Given the description of an element on the screen output the (x, y) to click on. 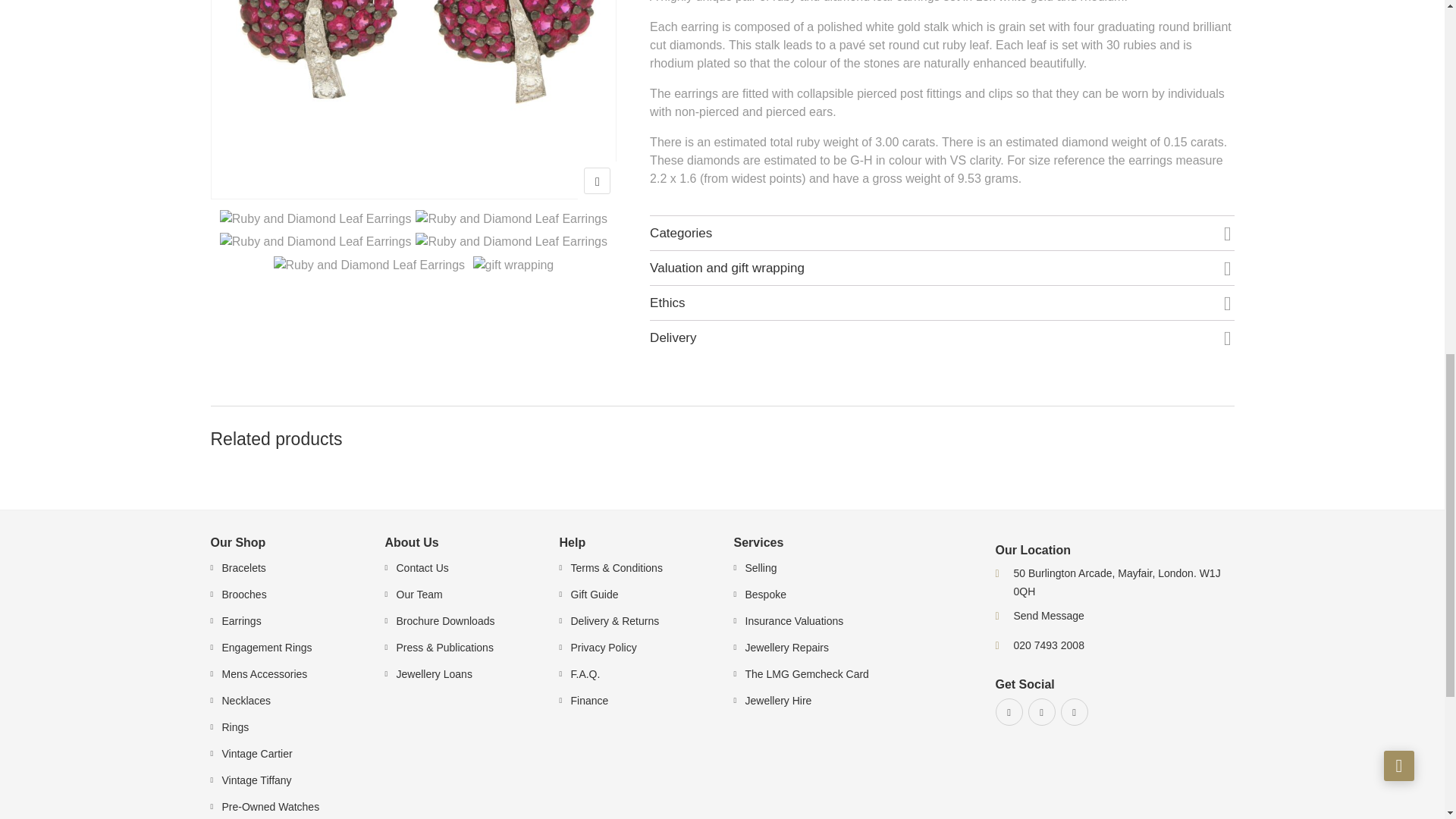
Ruby and Diamond Leaf Earrings (413, 99)
